Given the description of an element on the screen output the (x, y) to click on. 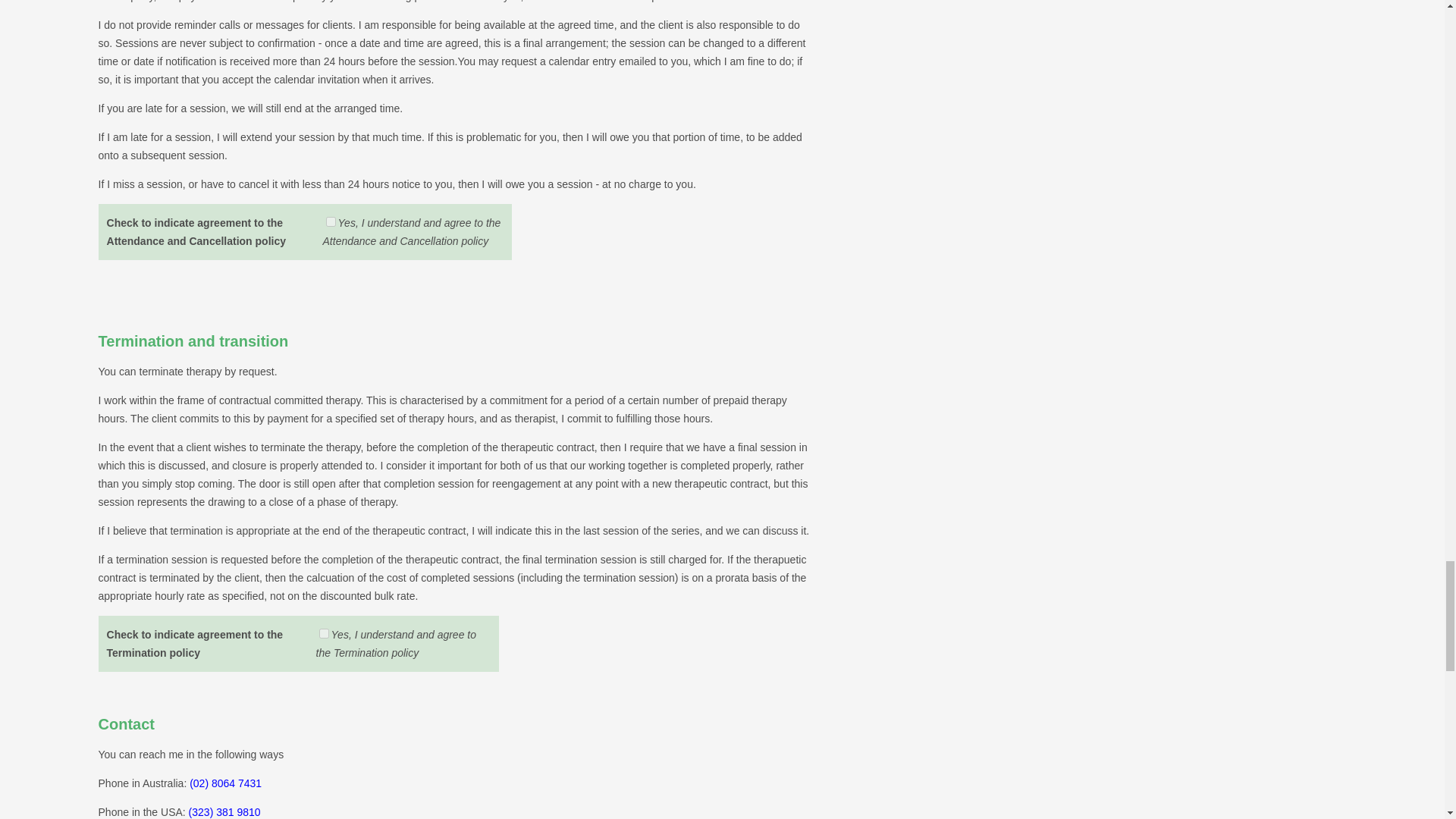
on (323, 633)
on (331, 221)
